Given the description of an element on the screen output the (x, y) to click on. 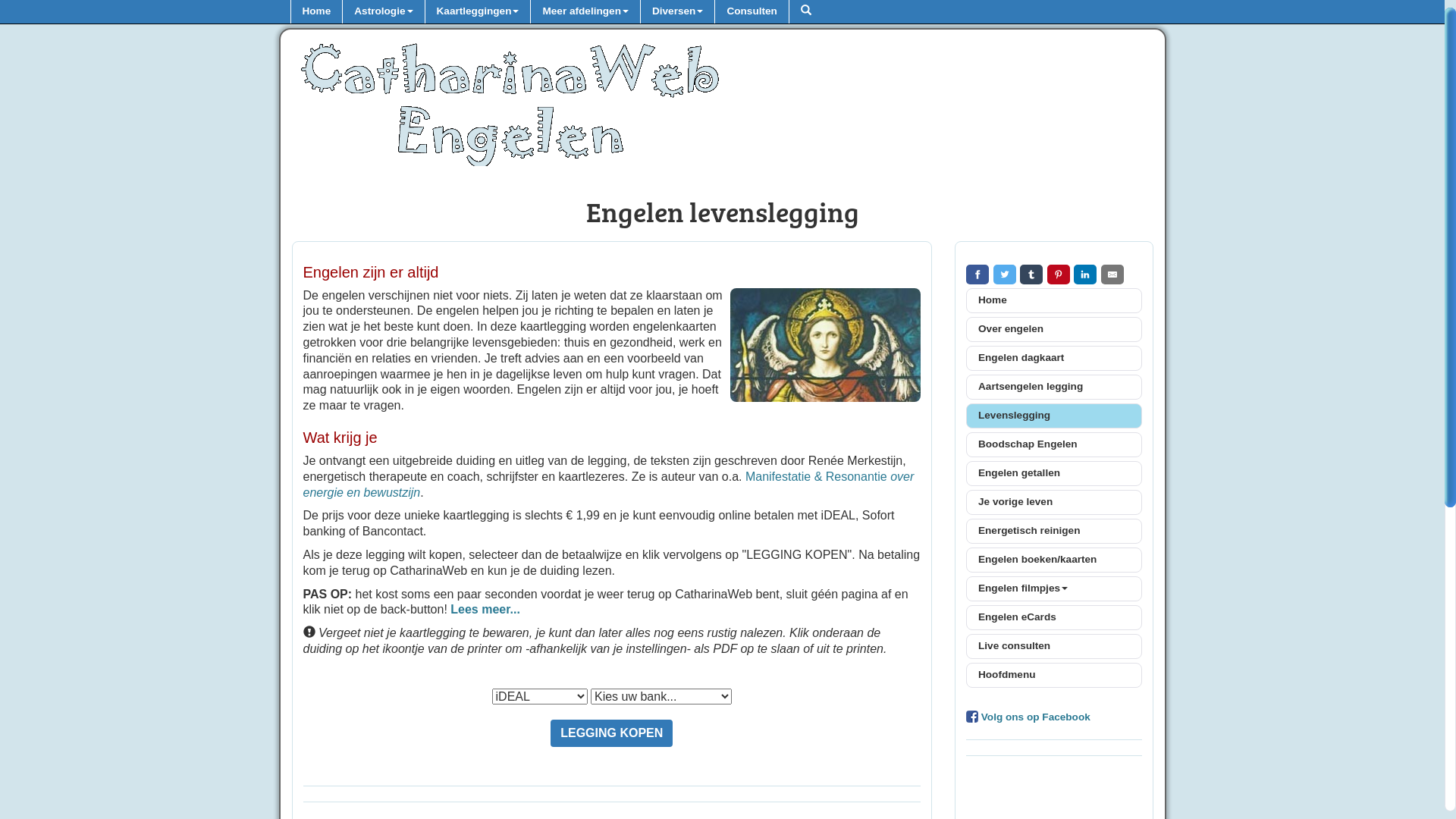
Home Element type: text (315, 11)
Engelen boeken/kaarten Element type: text (1054, 559)
Boodschap Engelen Element type: text (1054, 444)
Astrologie Element type: text (382, 11)
Engelen filmpjes Element type: text (1054, 588)
LEGGING KOPEN Element type: text (611, 732)
 Volg ons op Facebook Element type: text (1034, 716)
Engelen getallen Element type: text (1054, 473)
Meer afdelingen Element type: text (585, 11)
Diversen Element type: text (677, 11)
Engelen eCards Element type: text (1054, 617)
Manifestatie & Resonantie over energie en bewustzijn Element type: text (608, 484)
Je vorige leven Element type: text (1054, 501)
Lees meer... Element type: text (485, 608)
Engelen dagkaart Element type: text (1054, 357)
Aartsengelen legging Element type: text (1054, 386)
Hoofdmenu Element type: text (1054, 674)
Kaartleggingen Element type: text (477, 11)
Home Element type: text (1054, 300)
Over engelen Element type: text (1054, 329)
Live consulten Element type: text (1054, 645)
Consulten Element type: text (750, 11)
Energetisch reinigen Element type: text (1054, 530)
zoeken Element type: hover (805, 11)
Levenslegging Element type: text (1054, 415)
